Given the description of an element on the screen output the (x, y) to click on. 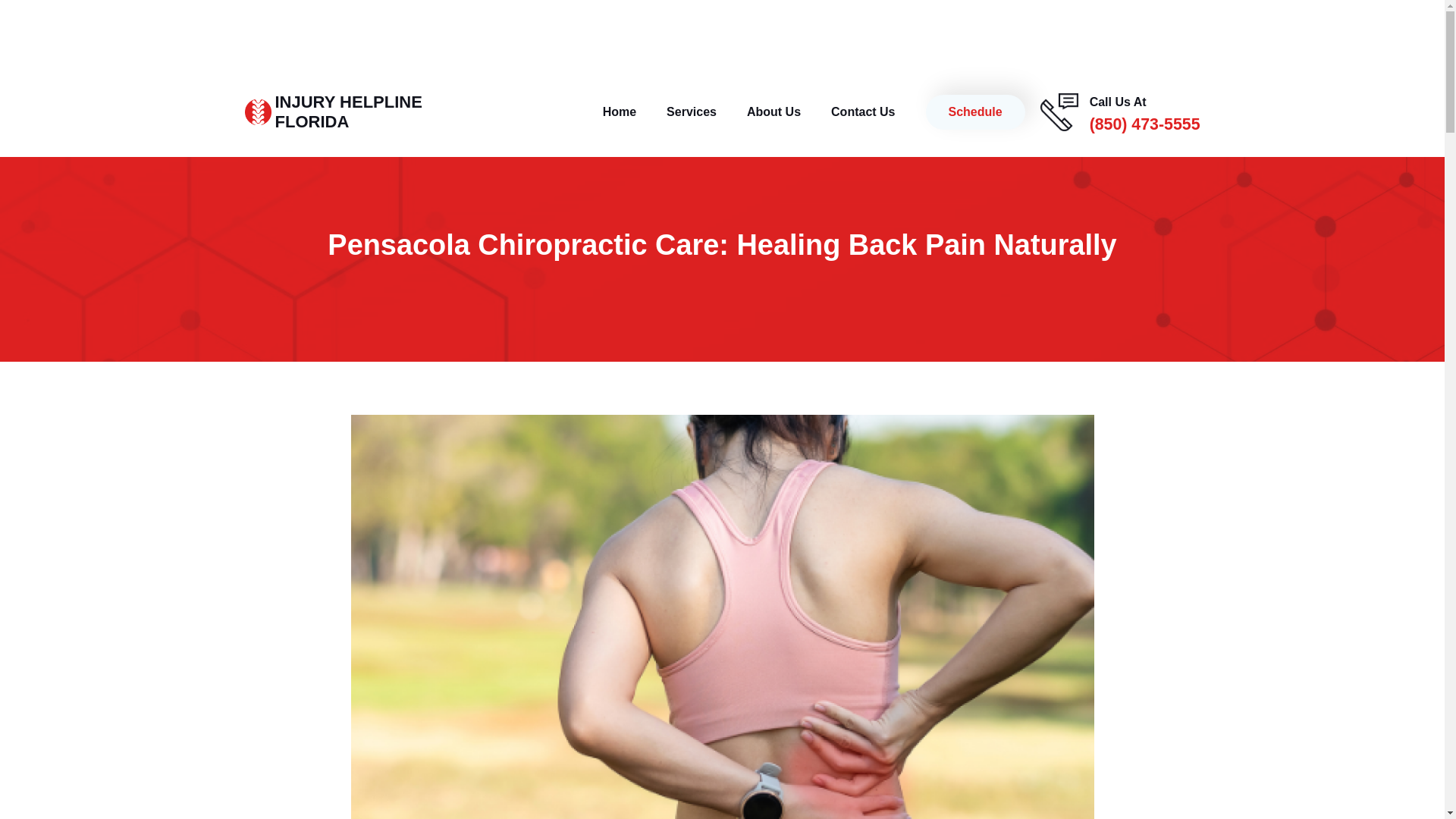
About Us (773, 112)
Schedule (974, 112)
Call Us At (1118, 101)
Contact Us (862, 112)
Home (348, 111)
Services (619, 112)
